Given the description of an element on the screen output the (x, y) to click on. 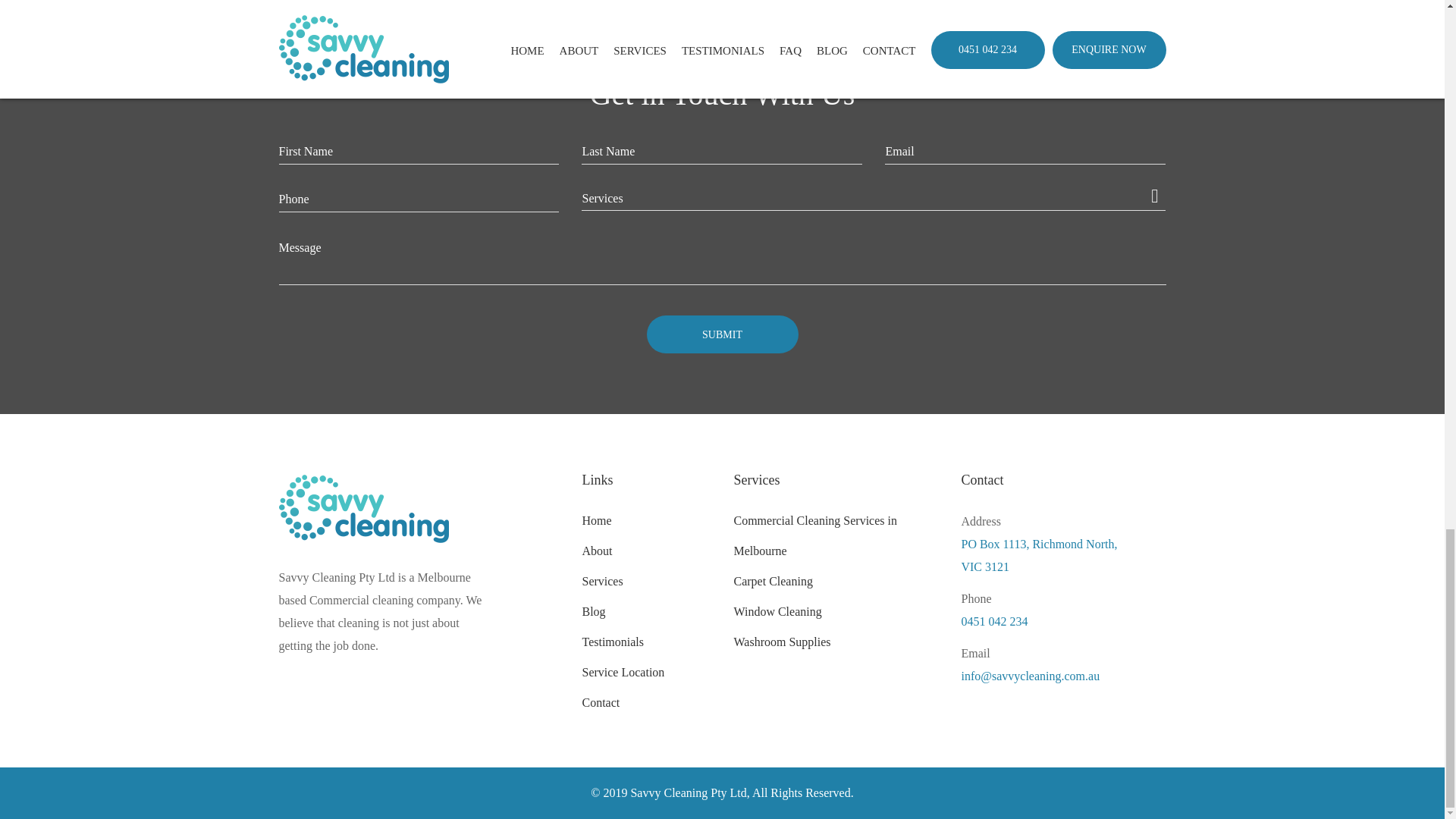
Blog (592, 611)
0451 042 234 (1063, 621)
Commercial cleaning (360, 599)
Commercial Cleaning Services in Melbourne  (814, 535)
Service Location (621, 671)
Window Cleaning (777, 611)
Carpet Cleaning (772, 581)
About (595, 550)
Home (595, 520)
Services (601, 581)
Savvy Cleaning (363, 517)
Submit (721, 333)
Contact (600, 702)
Submit (721, 333)
Testimonials (611, 641)
